Given the description of an element on the screen output the (x, y) to click on. 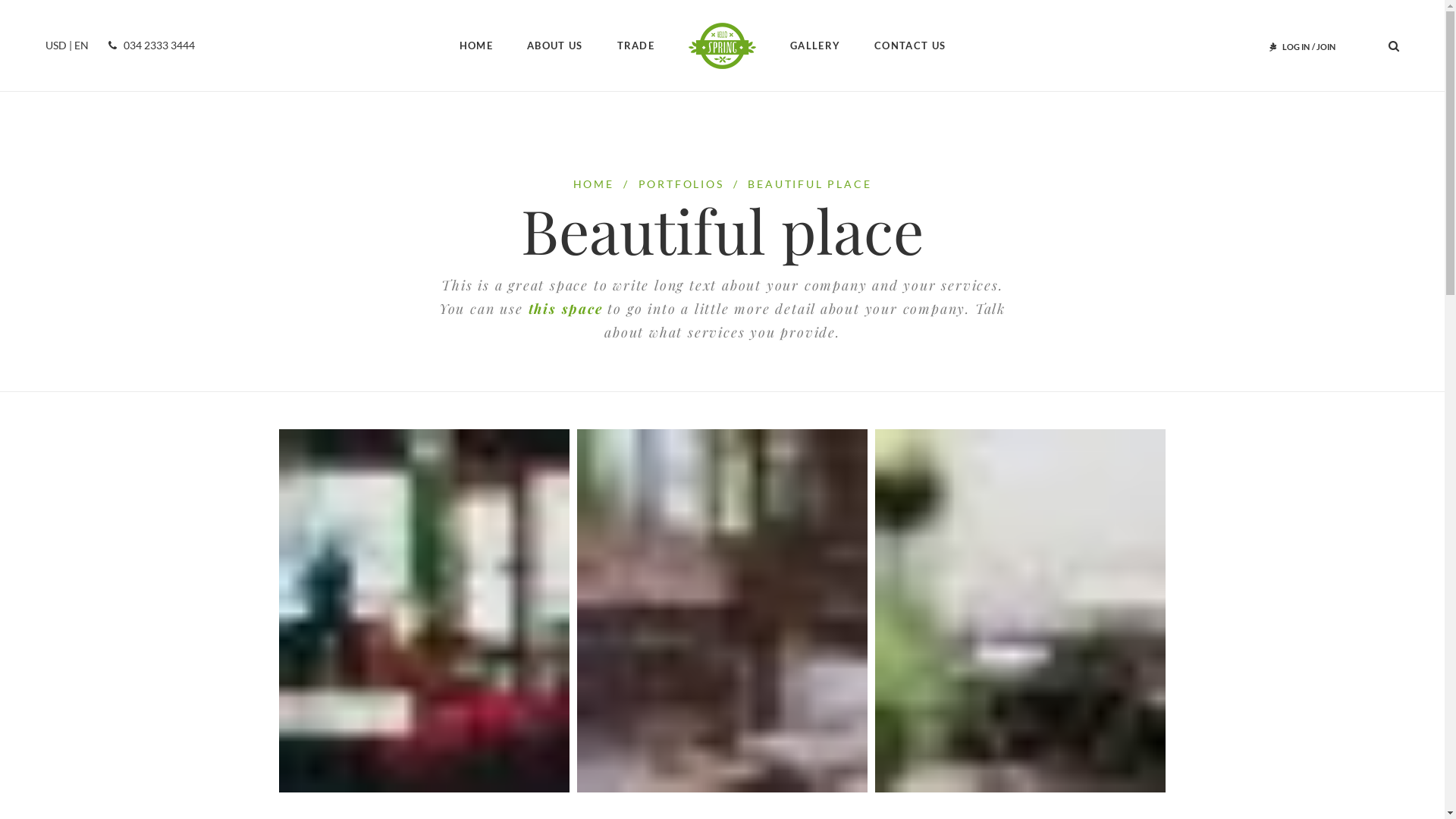
034 2333 3444 Element type: text (149, 45)
LOG IN Element type: text (1295, 46)
Beautiful place Element type: hover (722, 610)
ABOUT US Element type: text (554, 45)
PORTFOLIOS Element type: text (681, 183)
Beautiful place Element type: hover (424, 610)
JOIN Element type: text (1325, 46)
TRADE Element type: text (636, 45)
Beautiful place Element type: hover (1020, 610)
GALLERY Element type: text (815, 45)
HOME Element type: text (593, 183)
Native Plant Wholesalers-wholesale plants for trade partners Element type: hover (722, 45)
HOME Element type: text (475, 45)
CONTACT US Element type: text (909, 45)
